Given the description of an element on the screen output the (x, y) to click on. 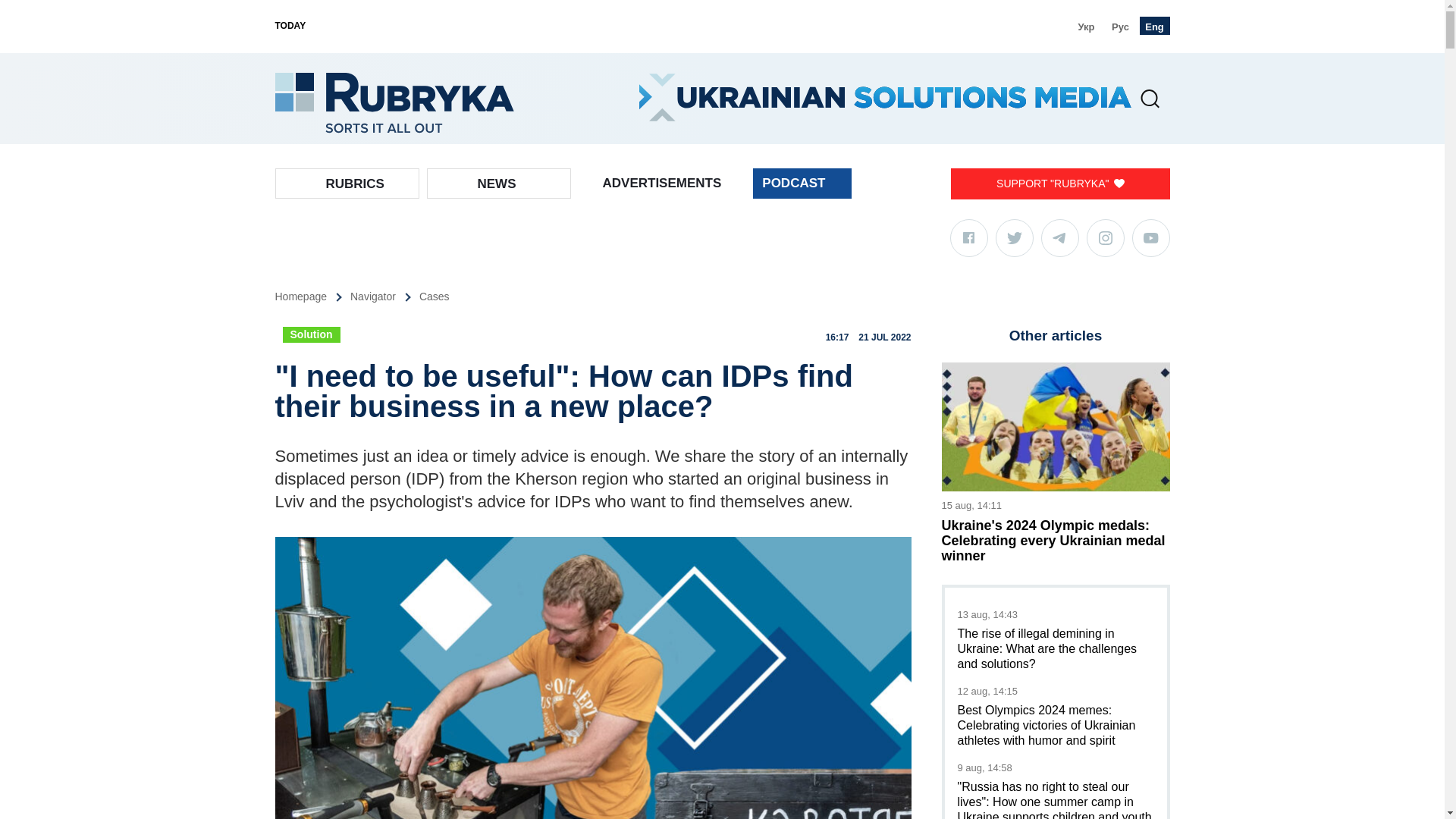
ADVERTISEMENTS (660, 183)
PODCAST (802, 183)
SUPPORT "RUBRYKA" (1059, 183)
Eng (1153, 25)
Navigator (384, 296)
RUBRICS (354, 183)
NEWS (497, 183)
Homepage (312, 296)
